Given the description of an element on the screen output the (x, y) to click on. 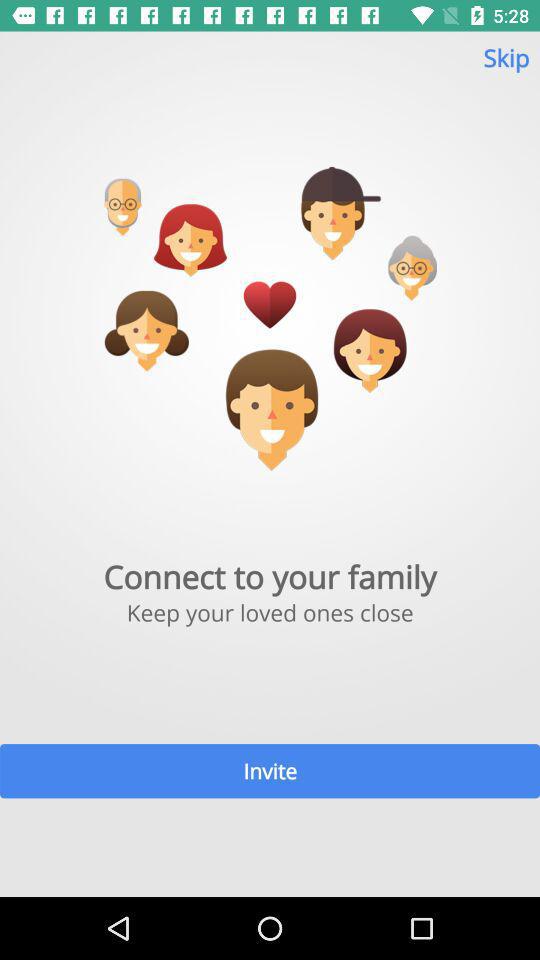
tap the invite (270, 770)
